Given the description of an element on the screen output the (x, y) to click on. 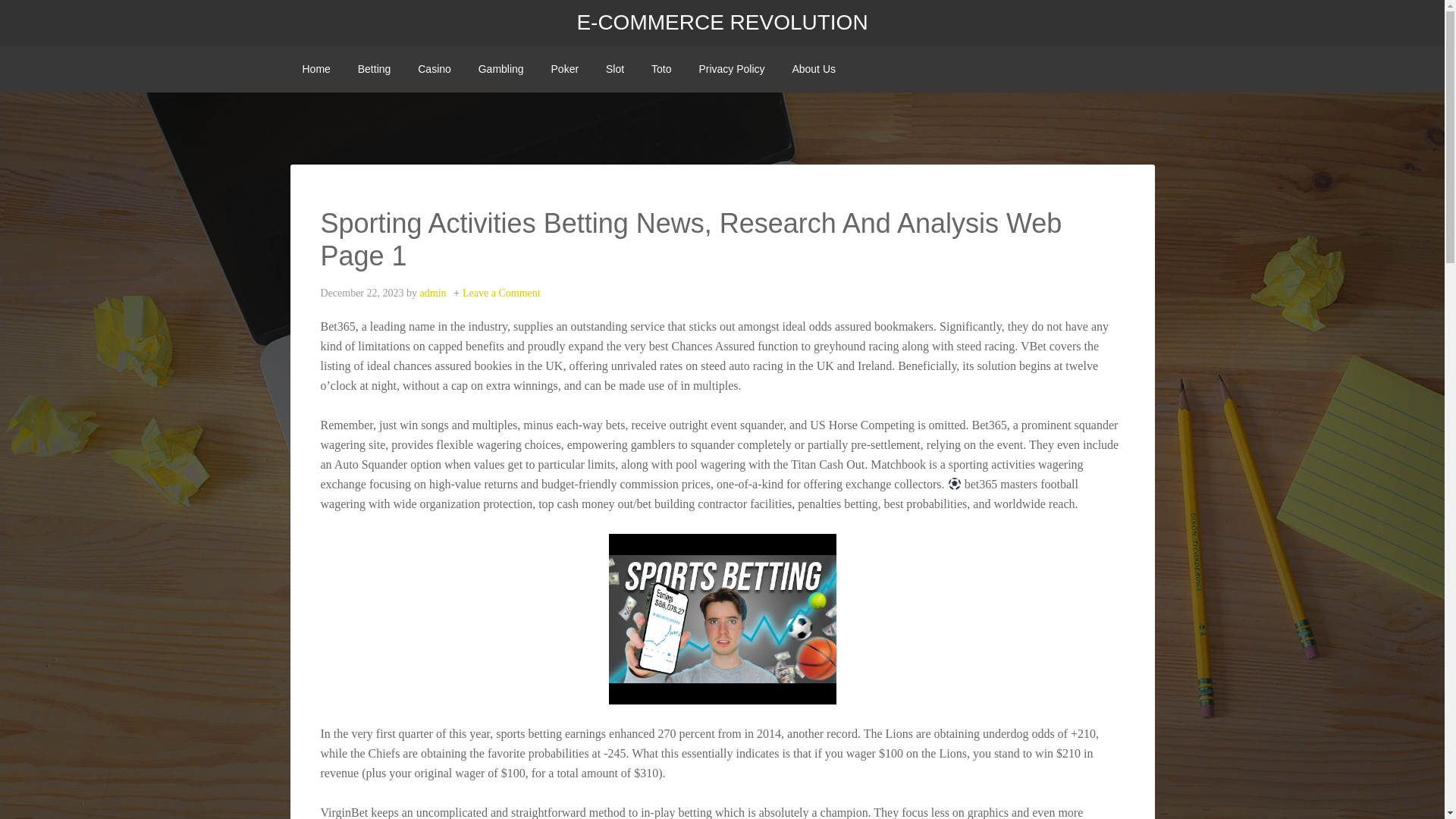
Gambling (500, 68)
Casino (434, 68)
Toto (660, 68)
Leave a Comment (501, 292)
admin (433, 292)
Home (315, 68)
About Us (812, 68)
Poker (564, 68)
Betting (374, 68)
E-COMMERCE REVOLUTION (721, 22)
Slot (615, 68)
Privacy Policy (730, 68)
